Given the description of an element on the screen output the (x, y) to click on. 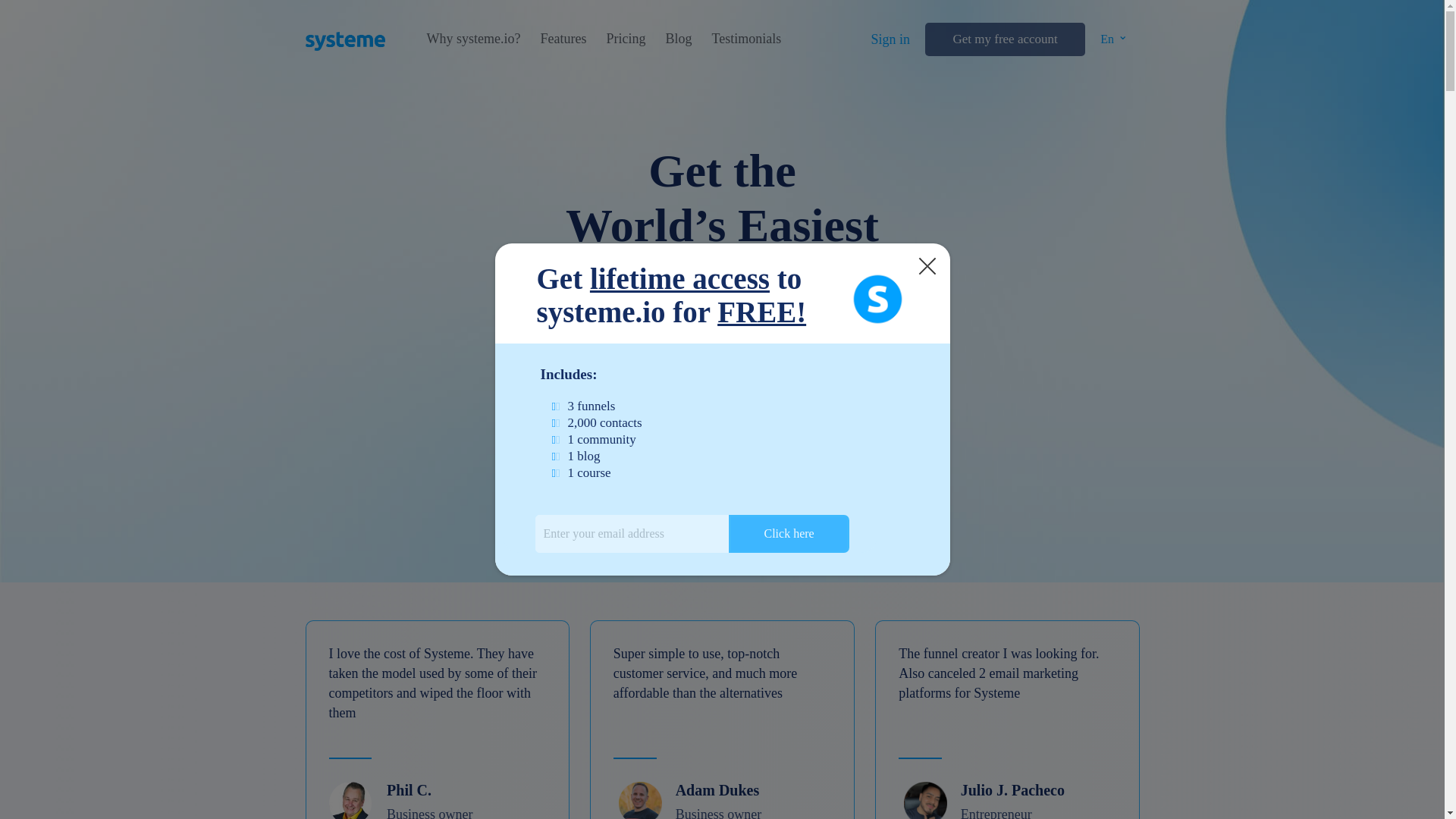
Features (563, 38)
Sign in (890, 39)
Why systeme.io? (472, 38)
Get my free account (1004, 39)
Pricing (625, 38)
Testimonials (745, 38)
Blog (678, 38)
